Given the description of an element on the screen output the (x, y) to click on. 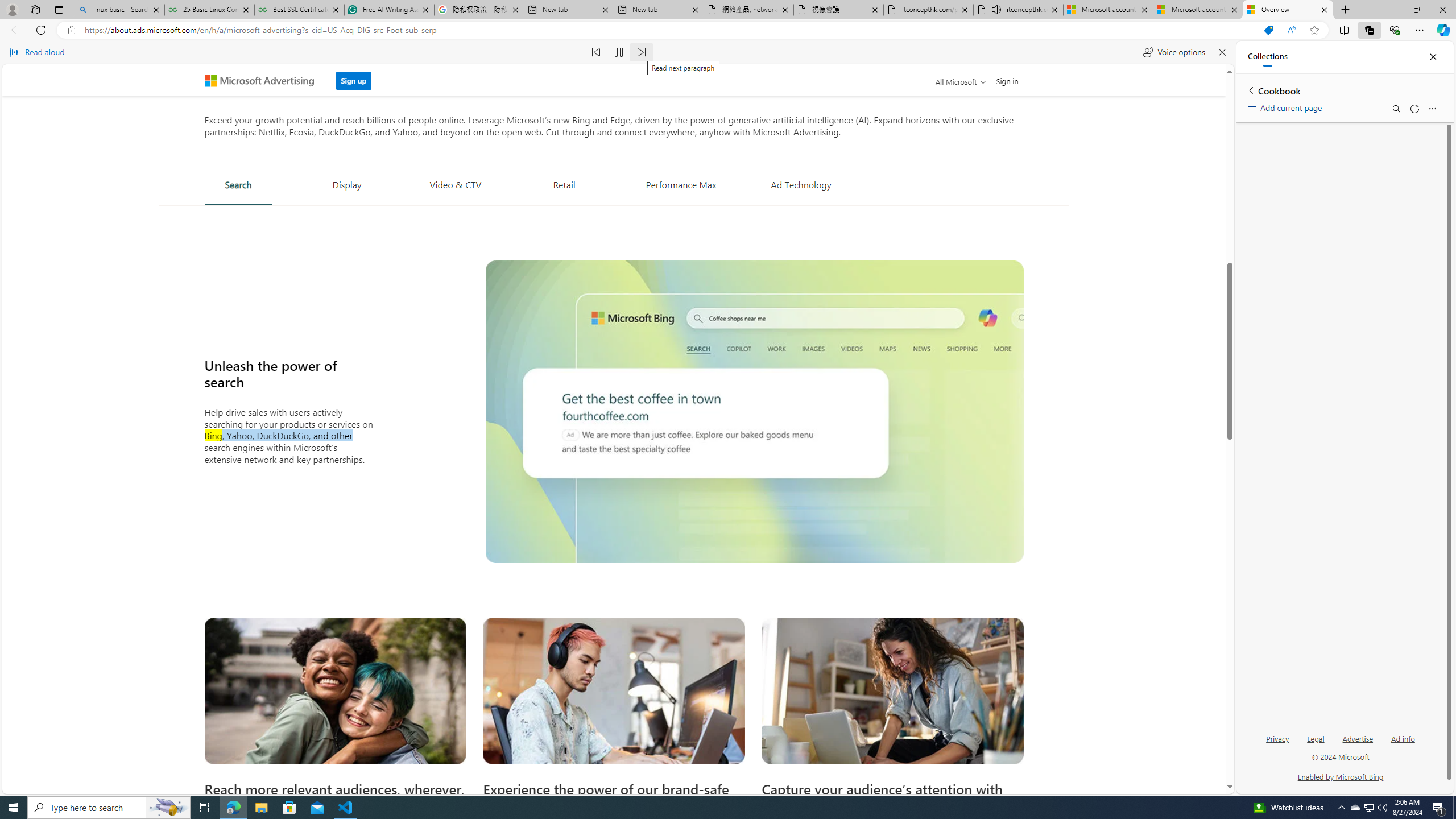
Read previous paragraph (596, 52)
Close read aloud (1221, 52)
Free AI Writing Assistance for Students | Grammarly (389, 9)
Performance Max (681, 183)
Video & CTV (454, 183)
